Given the description of an element on the screen output the (x, y) to click on. 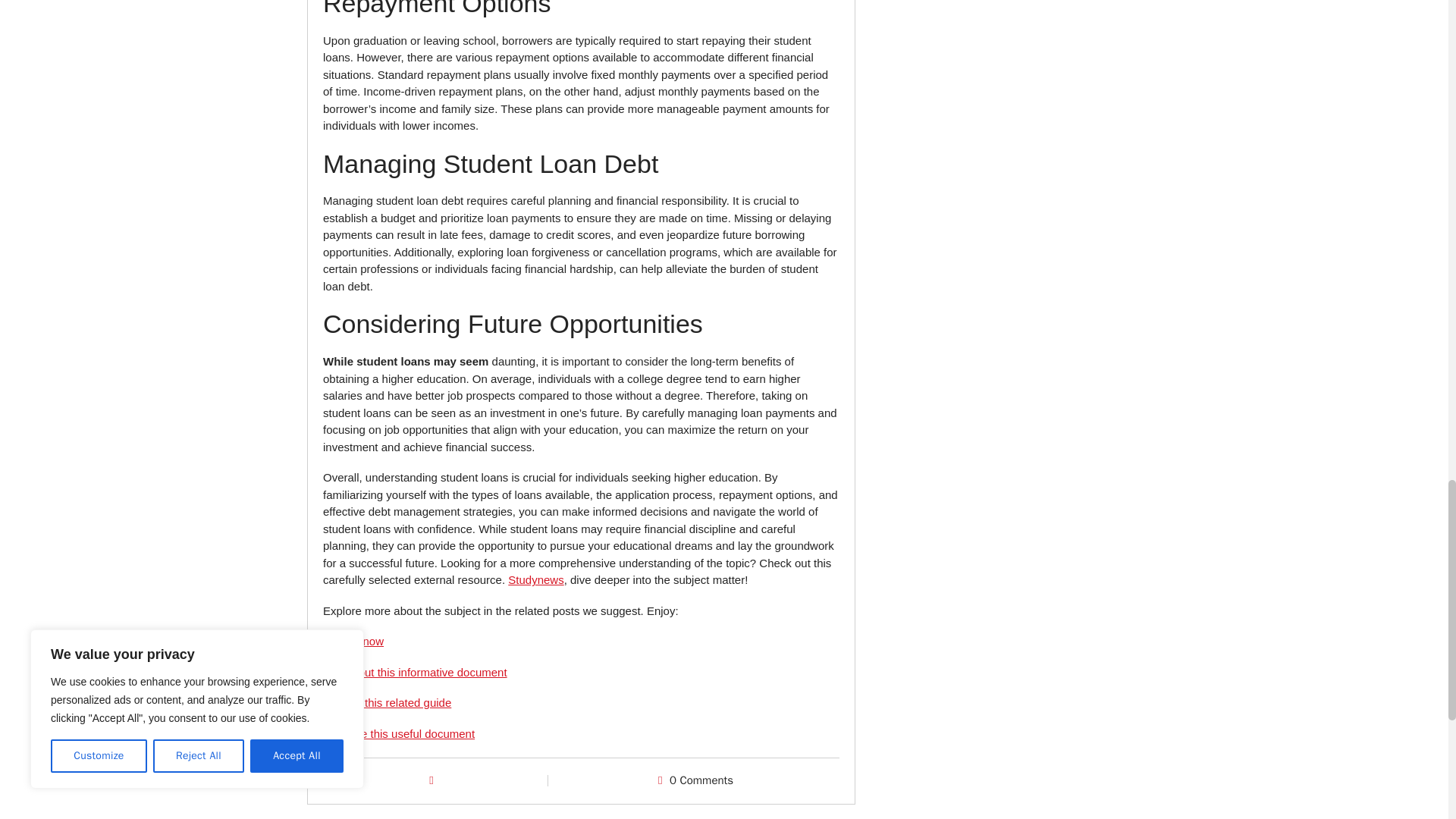
Studynews (535, 579)
Access now (353, 640)
Check out this informative document (414, 671)
Explore this related guide (387, 702)
